Given the description of an element on the screen output the (x, y) to click on. 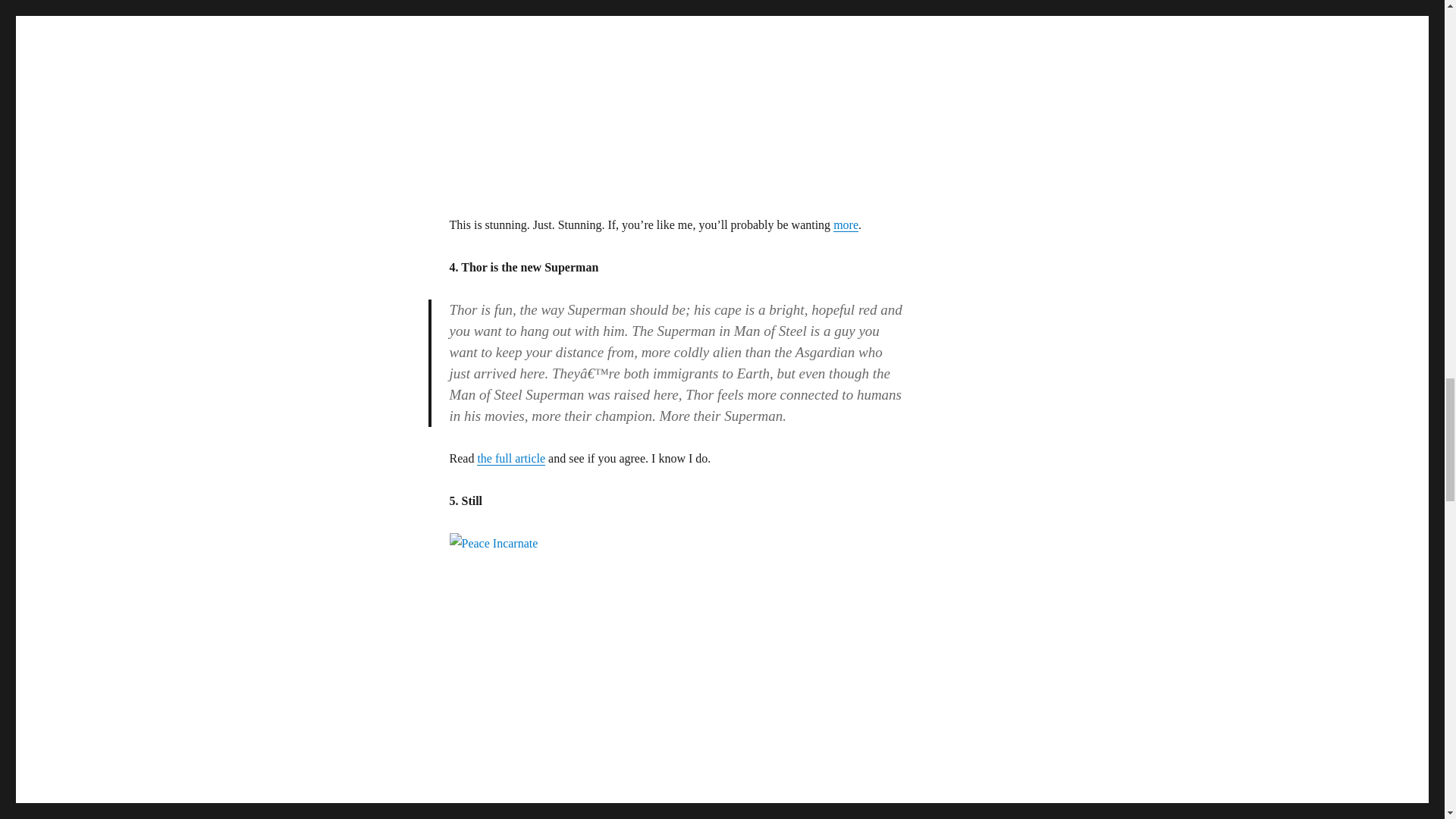
more (845, 224)
the full article (510, 458)
